Given the description of an element on the screen output the (x, y) to click on. 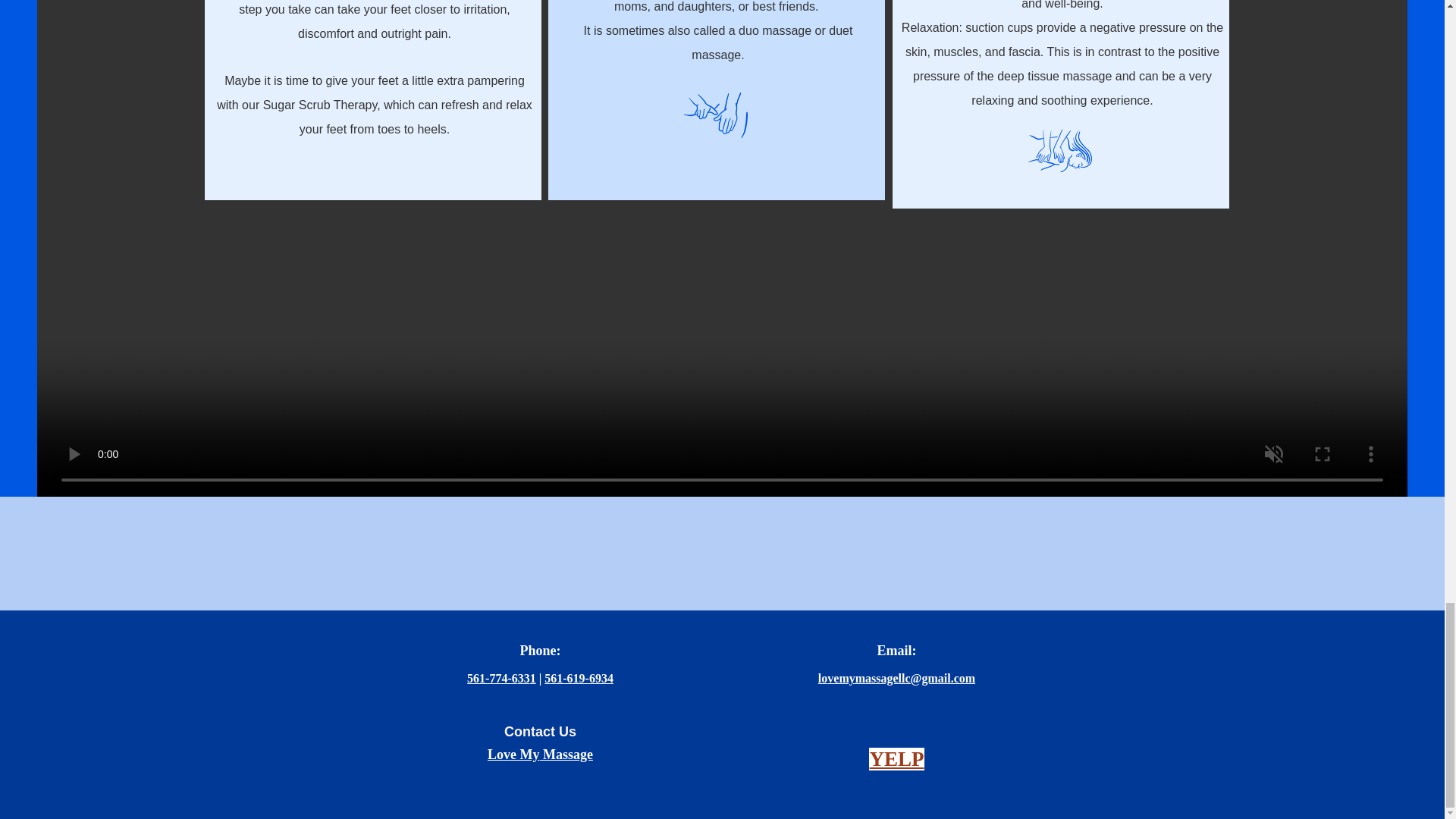
Love My Massage (539, 754)
561-619-6934 (578, 677)
YE (883, 758)
LP (911, 758)
561-774-6331 (501, 677)
